Given the description of an element on the screen output the (x, y) to click on. 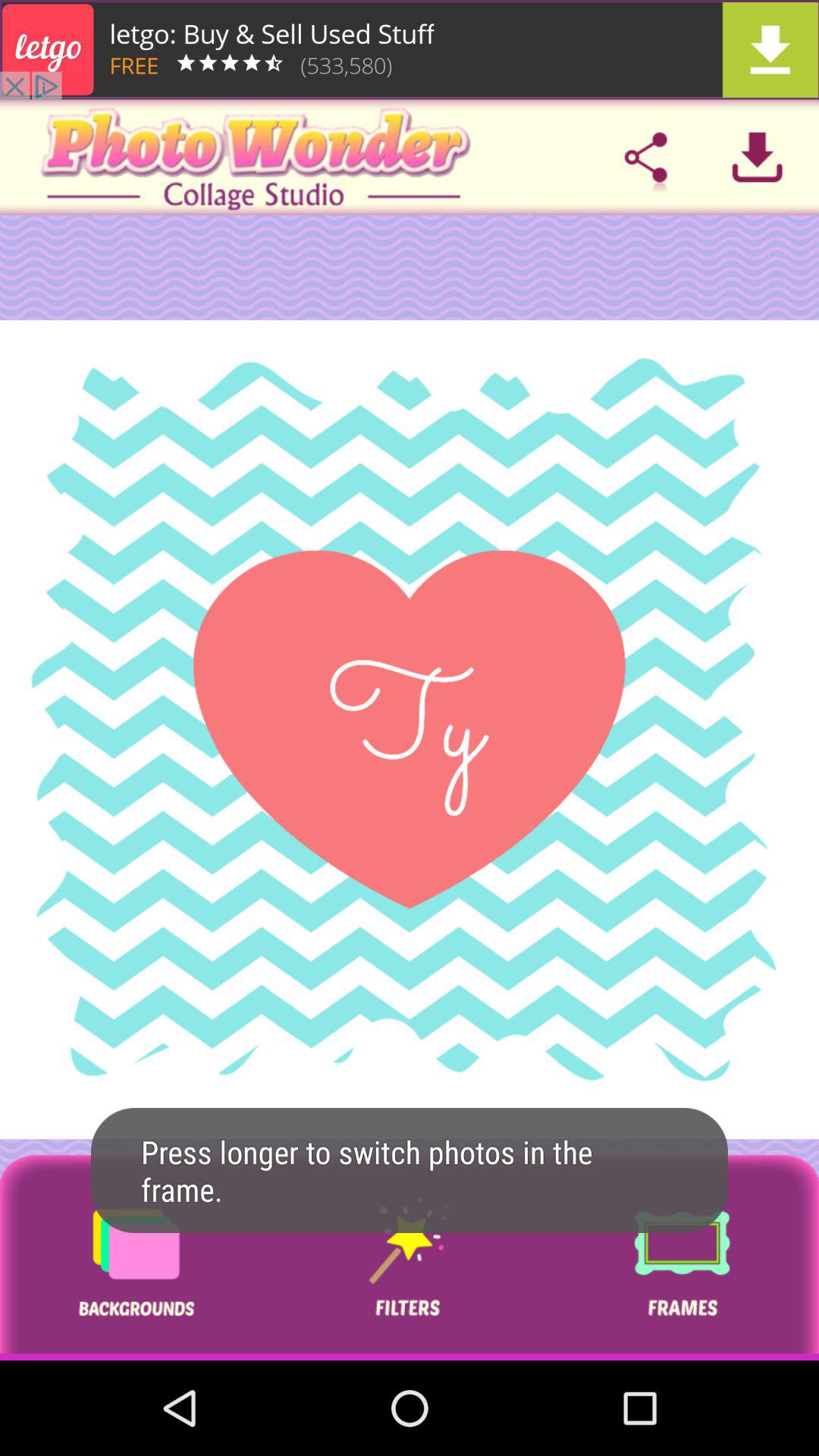
share the picture (645, 157)
